Given the description of an element on the screen output the (x, y) to click on. 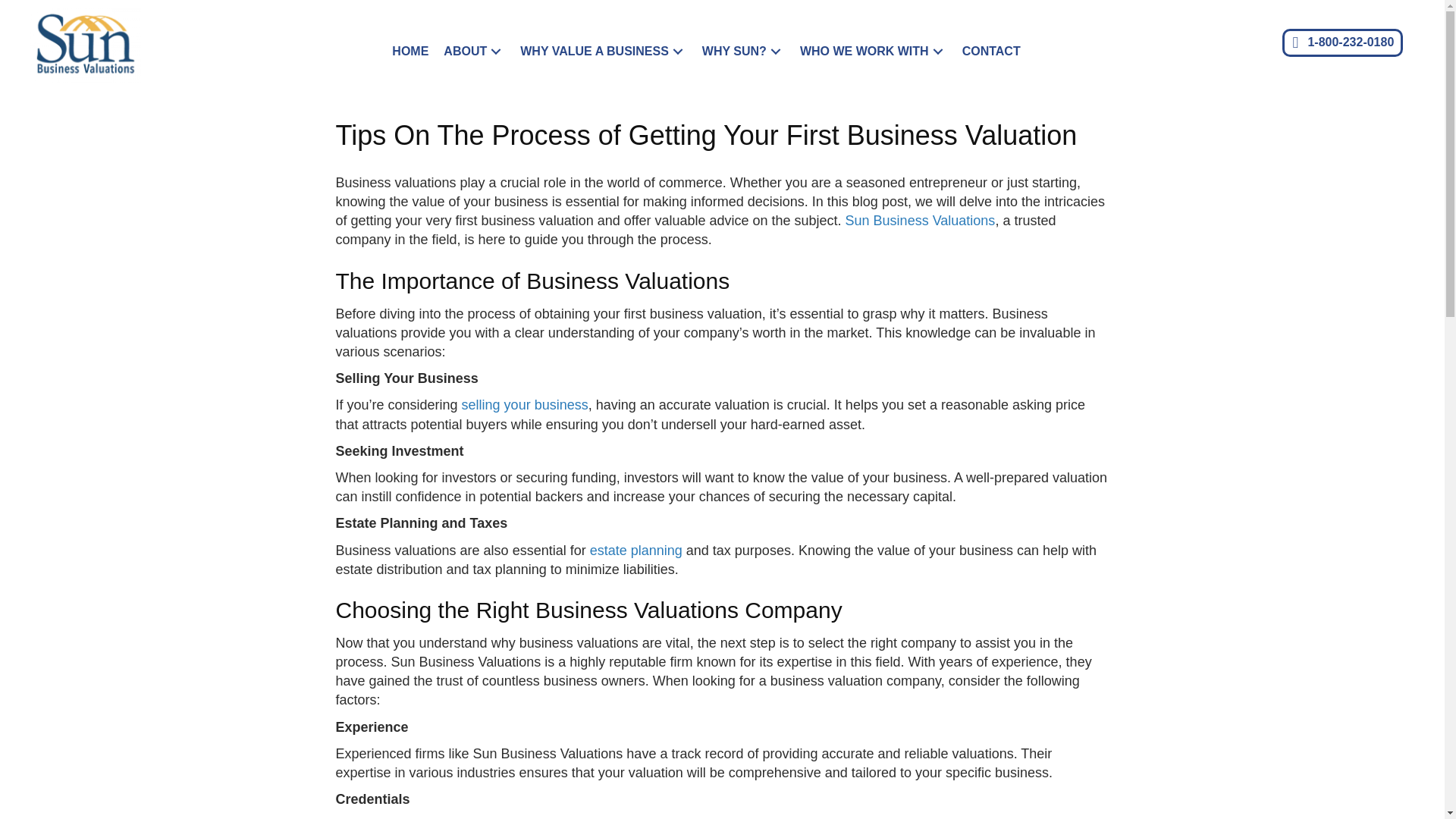
WHO WE WORK WITH (873, 51)
HOME (409, 51)
WHY VALUE A BUSINESS (603, 51)
ABOUT (473, 51)
WHY SUN? (743, 51)
CONTACT (991, 51)
